Given the description of an element on the screen output the (x, y) to click on. 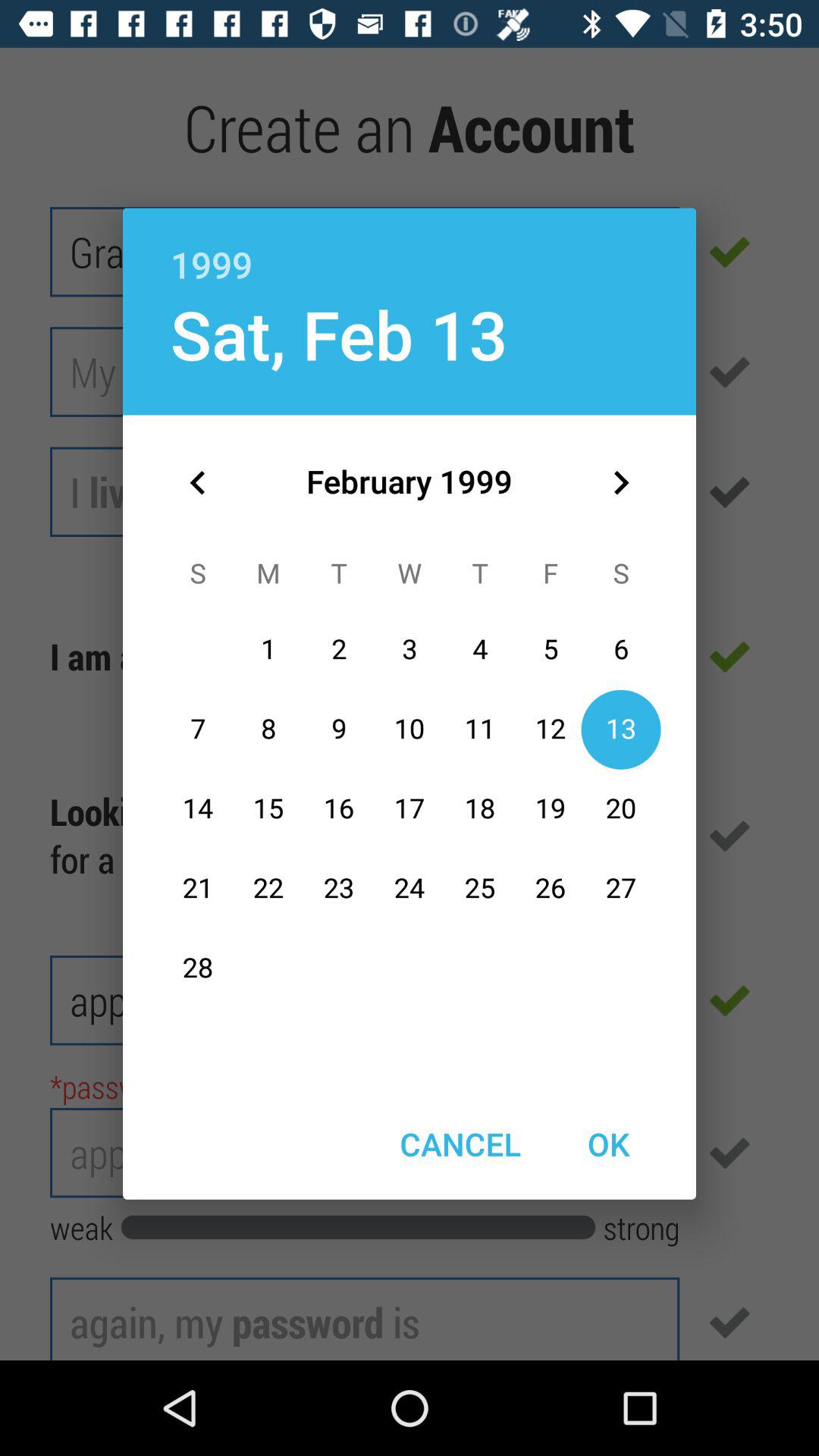
select the item to the right of cancel icon (608, 1143)
